Given the description of an element on the screen output the (x, y) to click on. 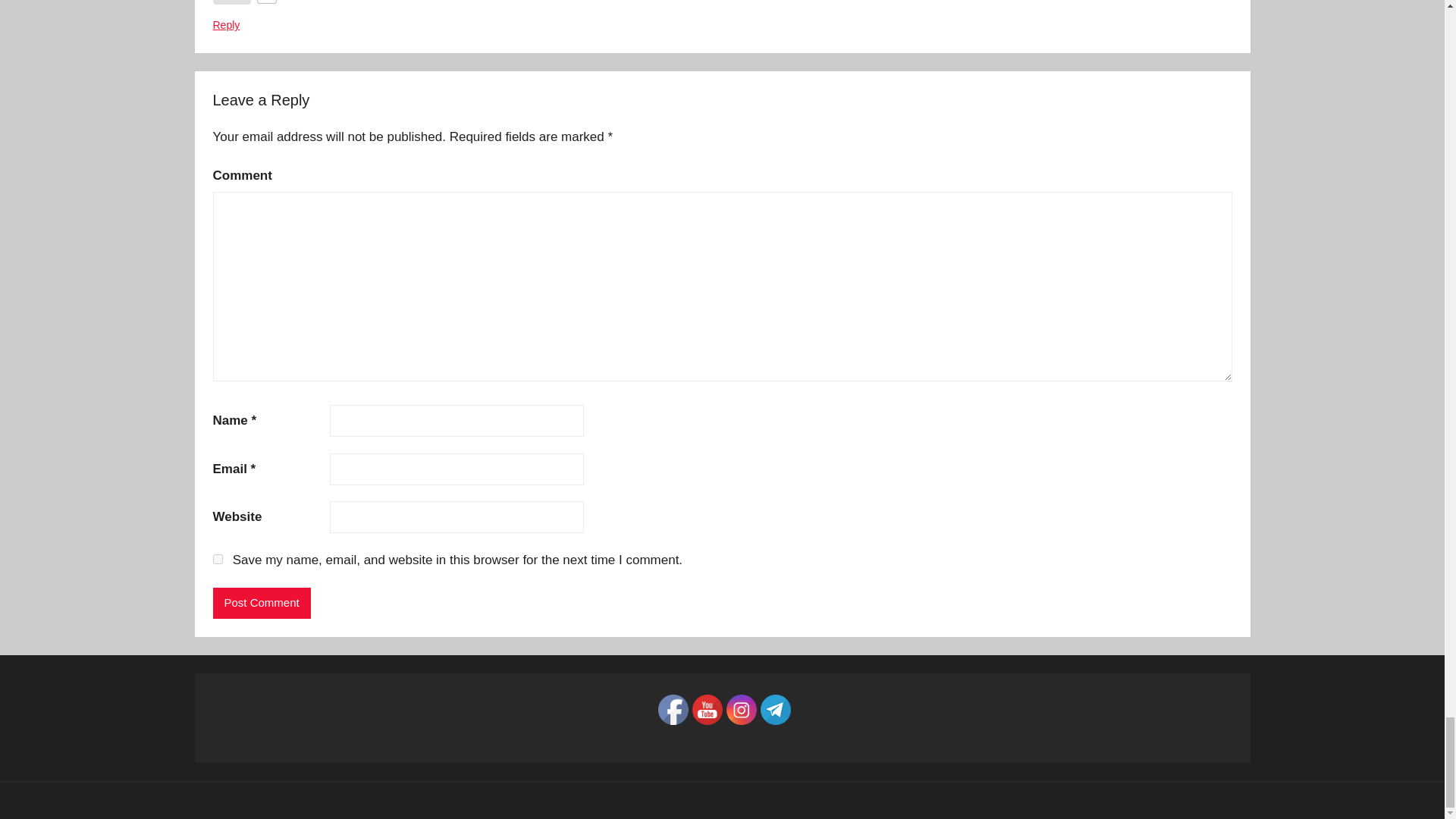
Post Comment (261, 603)
Instagram (741, 709)
Facebook (673, 709)
Telegram (775, 709)
YouTube (706, 709)
yes (217, 559)
